Given the description of an element on the screen output the (x, y) to click on. 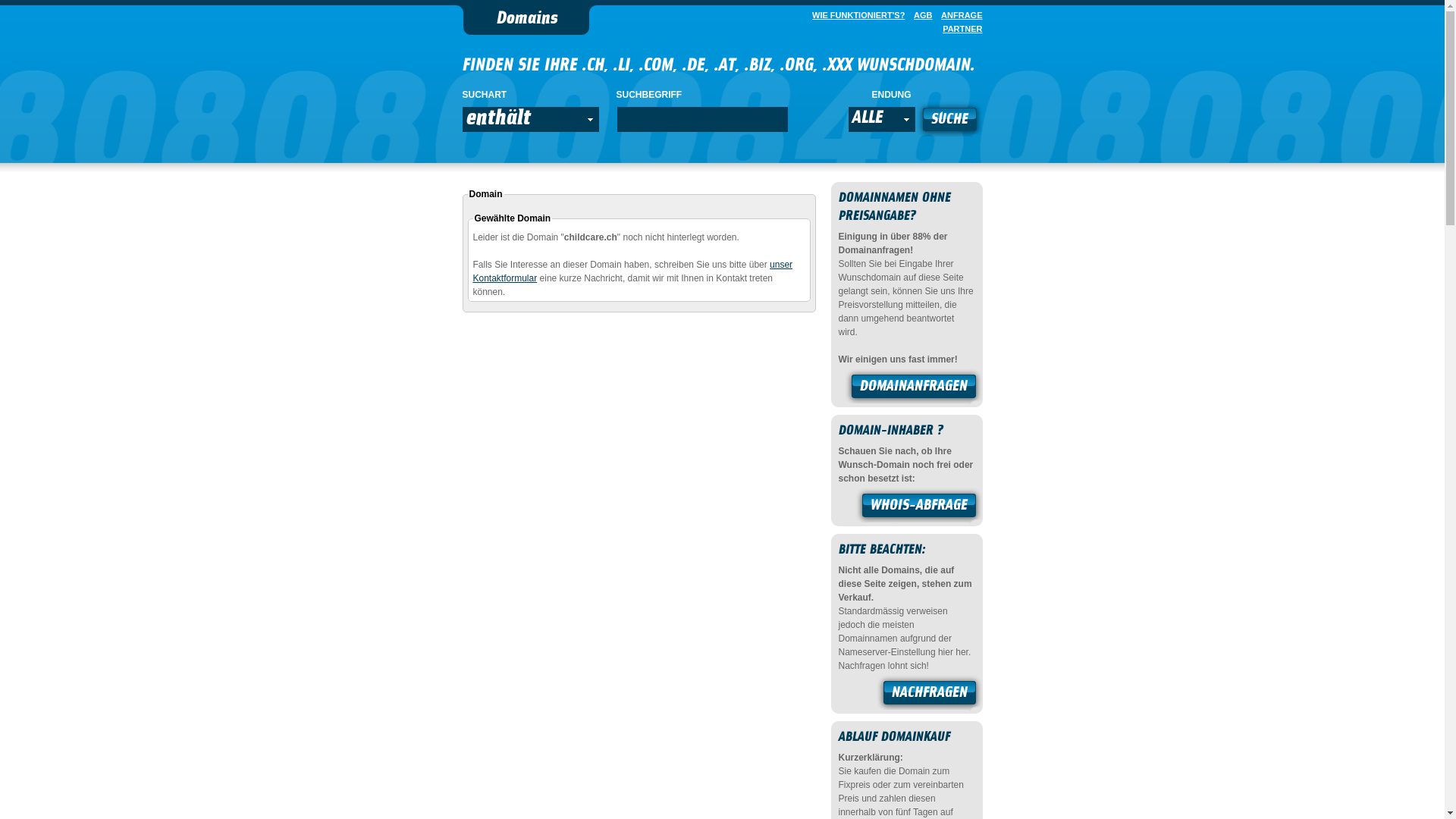
AGB Element type: text (919, 14)
NACHFRAGEN Element type: text (929, 694)
SUCHE Element type: text (949, 121)
unser Kontaktformular Element type: text (633, 271)
Domains Element type: text (526, 19)
DOMAINANFRAGEN Element type: text (913, 387)
WHOIS-ABFRAGE Element type: text (918, 507)
WIE FUNKTIONIERT'S? Element type: text (855, 14)
ANFRAGE Element type: text (958, 14)
PARTNER Element type: text (959, 28)
